Given the description of an element on the screen output the (x, y) to click on. 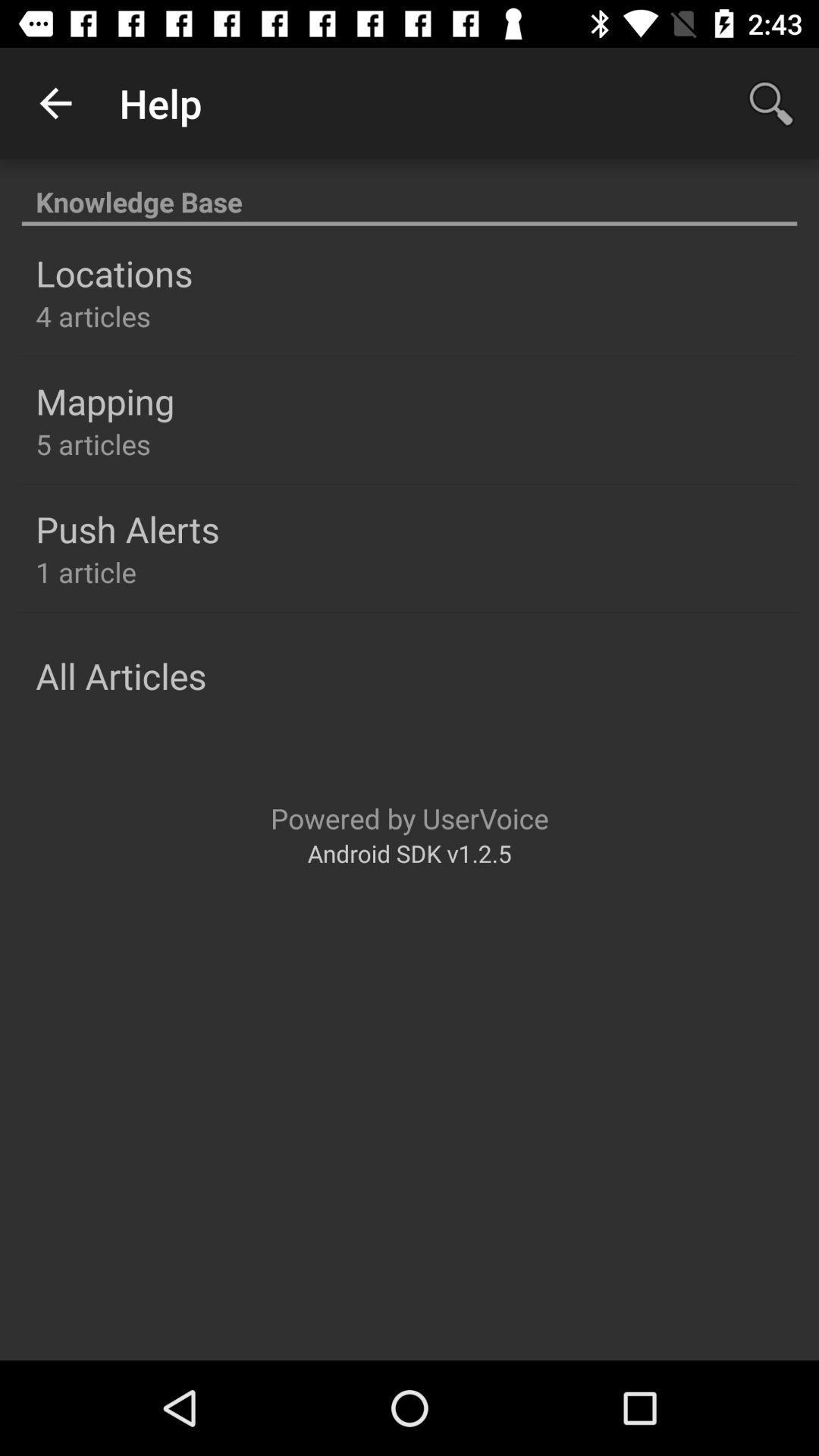
flip until mapping (104, 401)
